Given the description of an element on the screen output the (x, y) to click on. 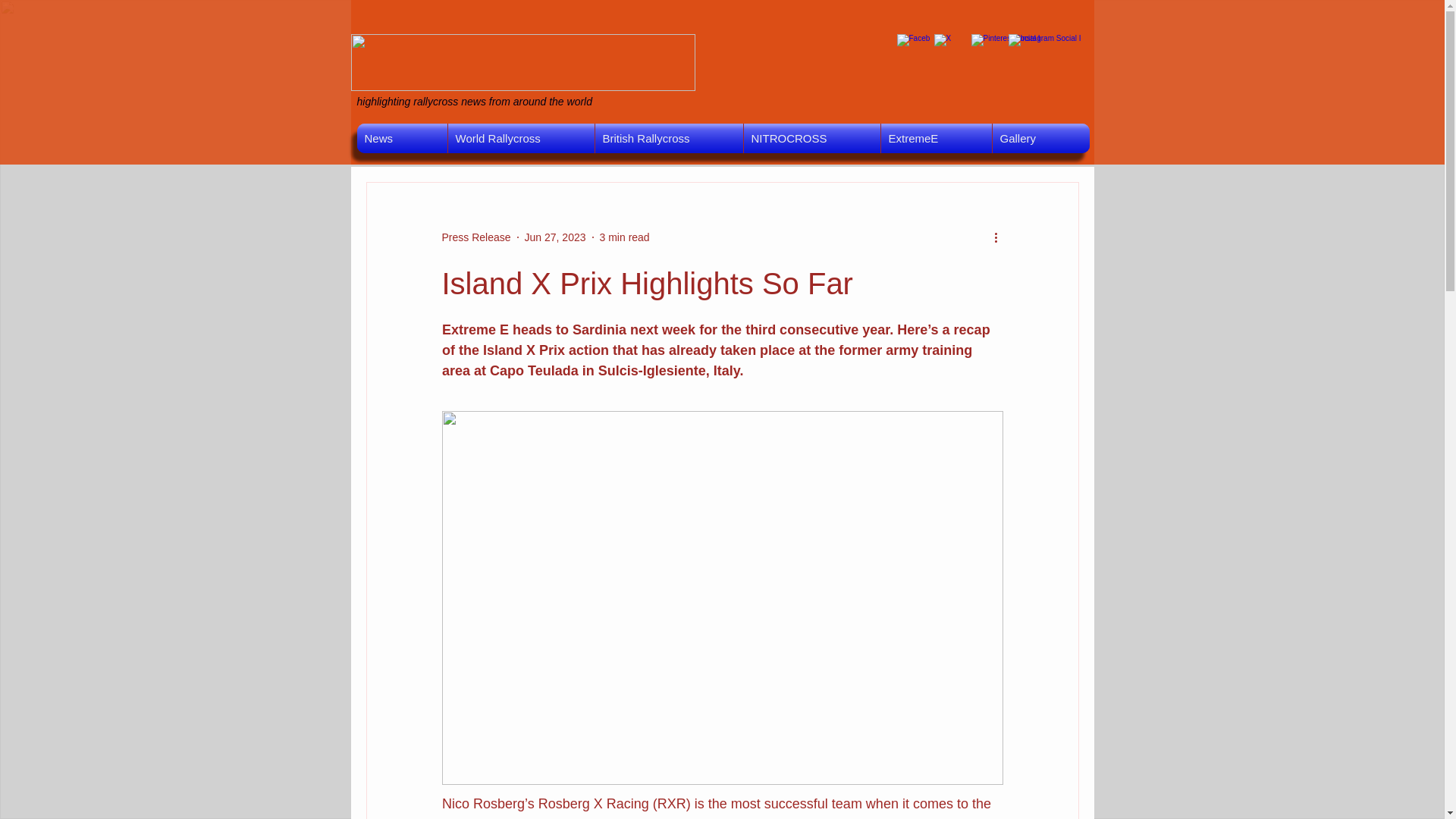
Press Release (476, 236)
3 min read (624, 236)
ExtremeE (935, 138)
British Rallycross (668, 138)
Jun 27, 2023 (555, 236)
NITROCROSS (810, 138)
News (401, 138)
Gallery (1040, 138)
World Rallycross (520, 138)
